Given the description of an element on the screen output the (x, y) to click on. 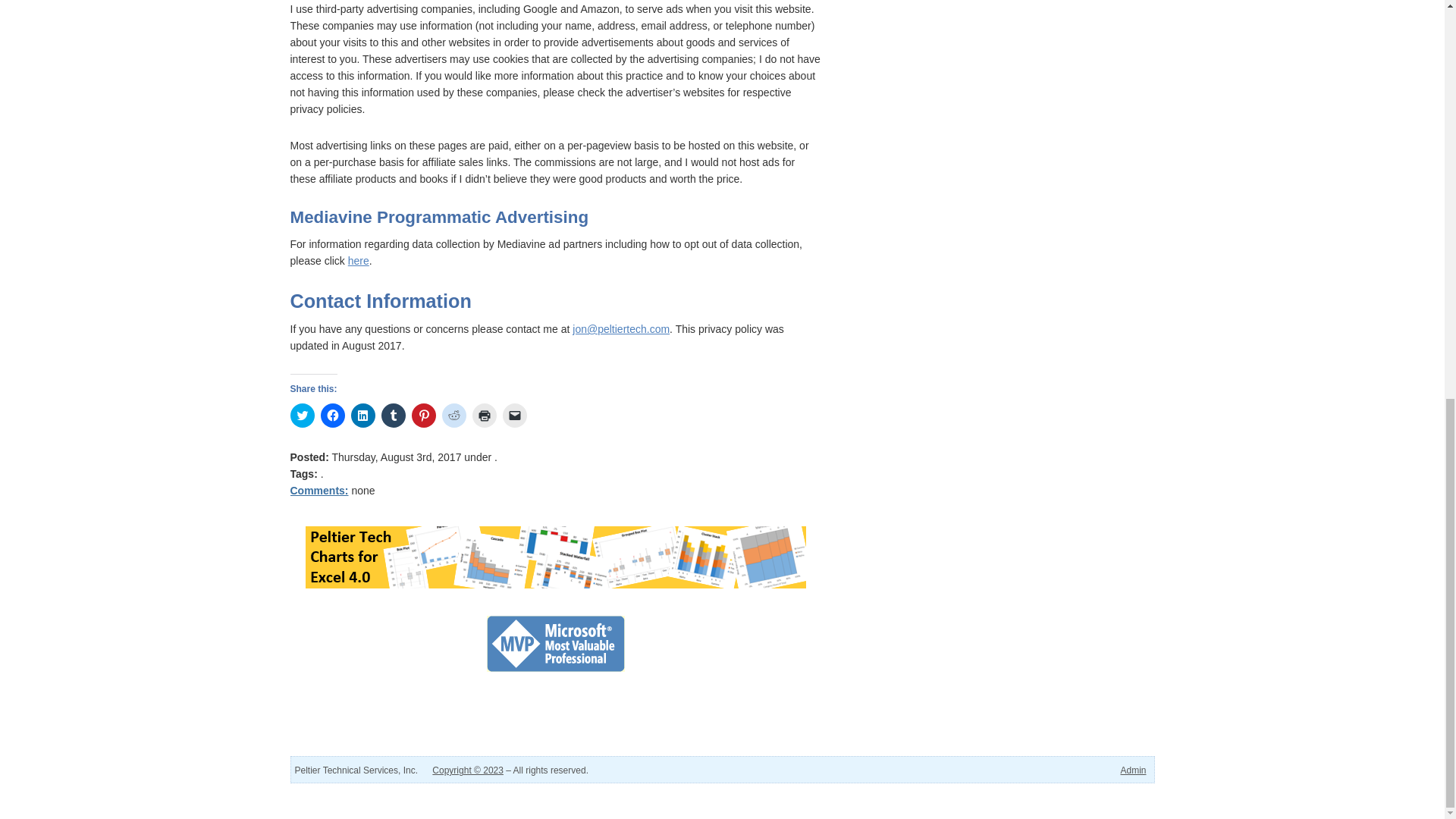
Click to print (483, 415)
Click to email a link to a friend (513, 415)
Click to share on Twitter (301, 415)
Click to share on Reddit (453, 415)
Microsoft Excel MVP since 2001 (555, 643)
Click to share on Facebook (331, 415)
Click to share on Tumblr (392, 415)
Click to share on LinkedIn (362, 415)
Admin (1132, 769)
Click to share on Pinterest (422, 415)
